Given the description of an element on the screen output the (x, y) to click on. 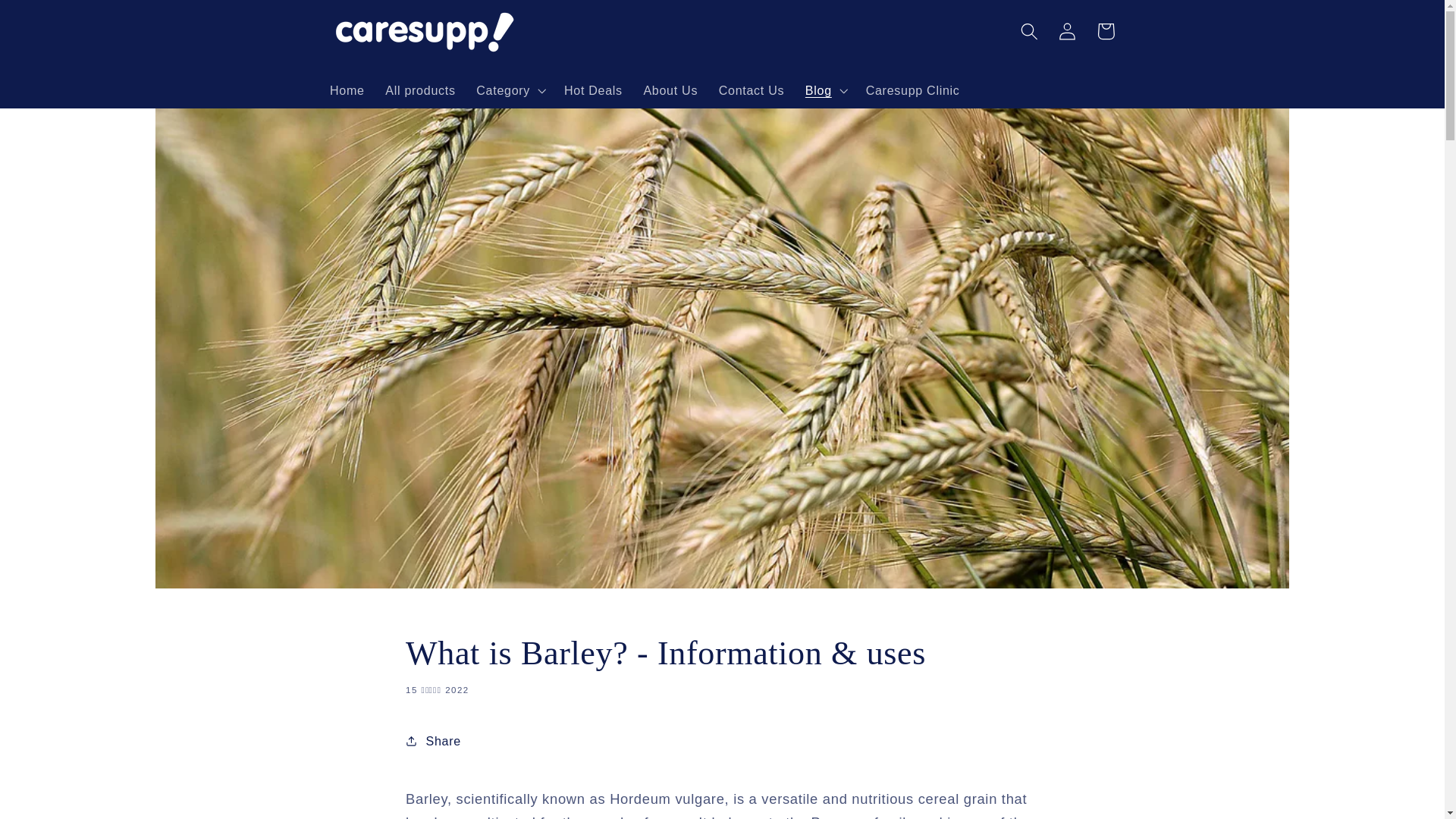
Skip to content (51, 19)
